Given the description of an element on the screen output the (x, y) to click on. 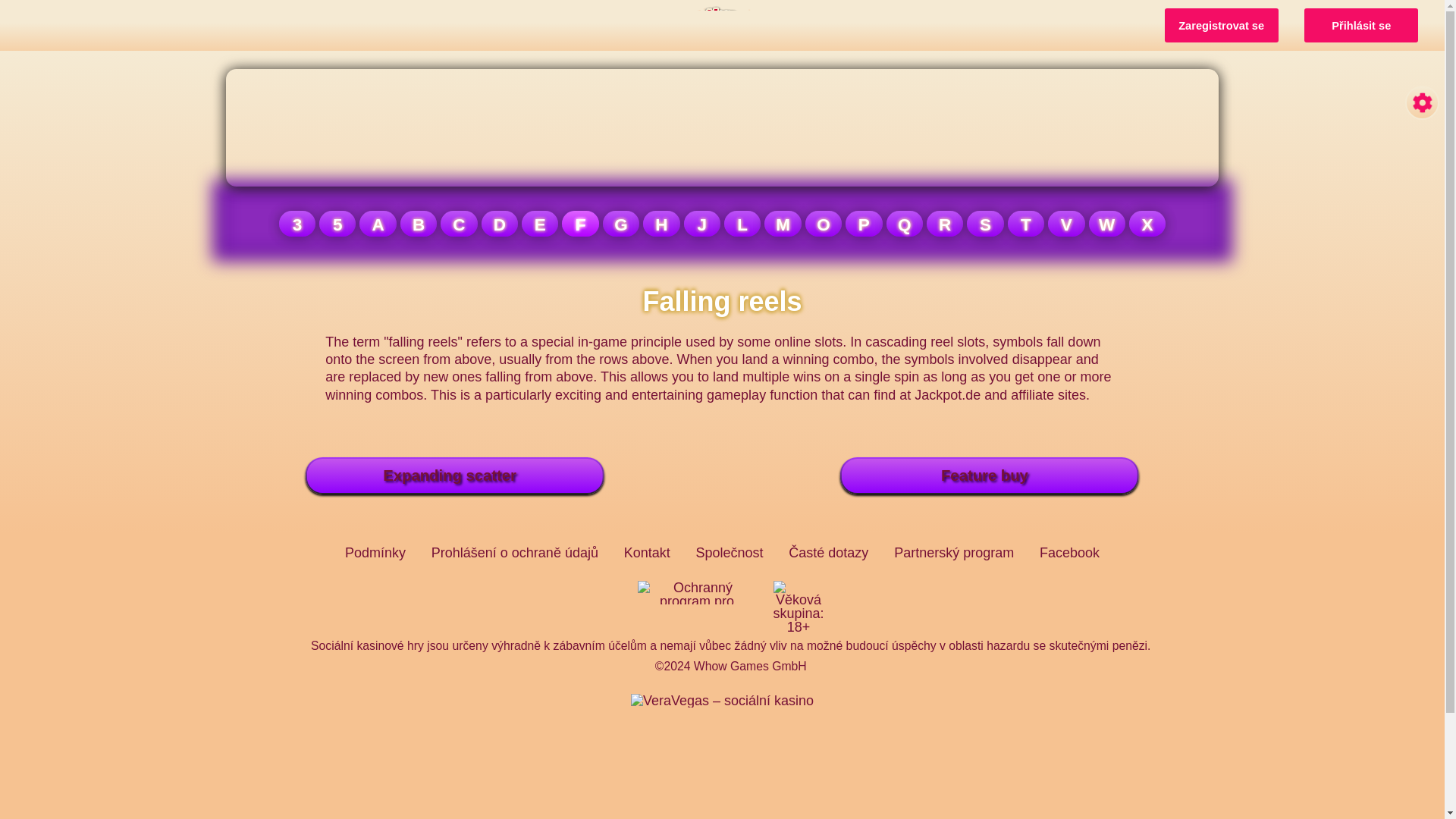
Zaregistrovat se (1221, 25)
